Given the description of an element on the screen output the (x, y) to click on. 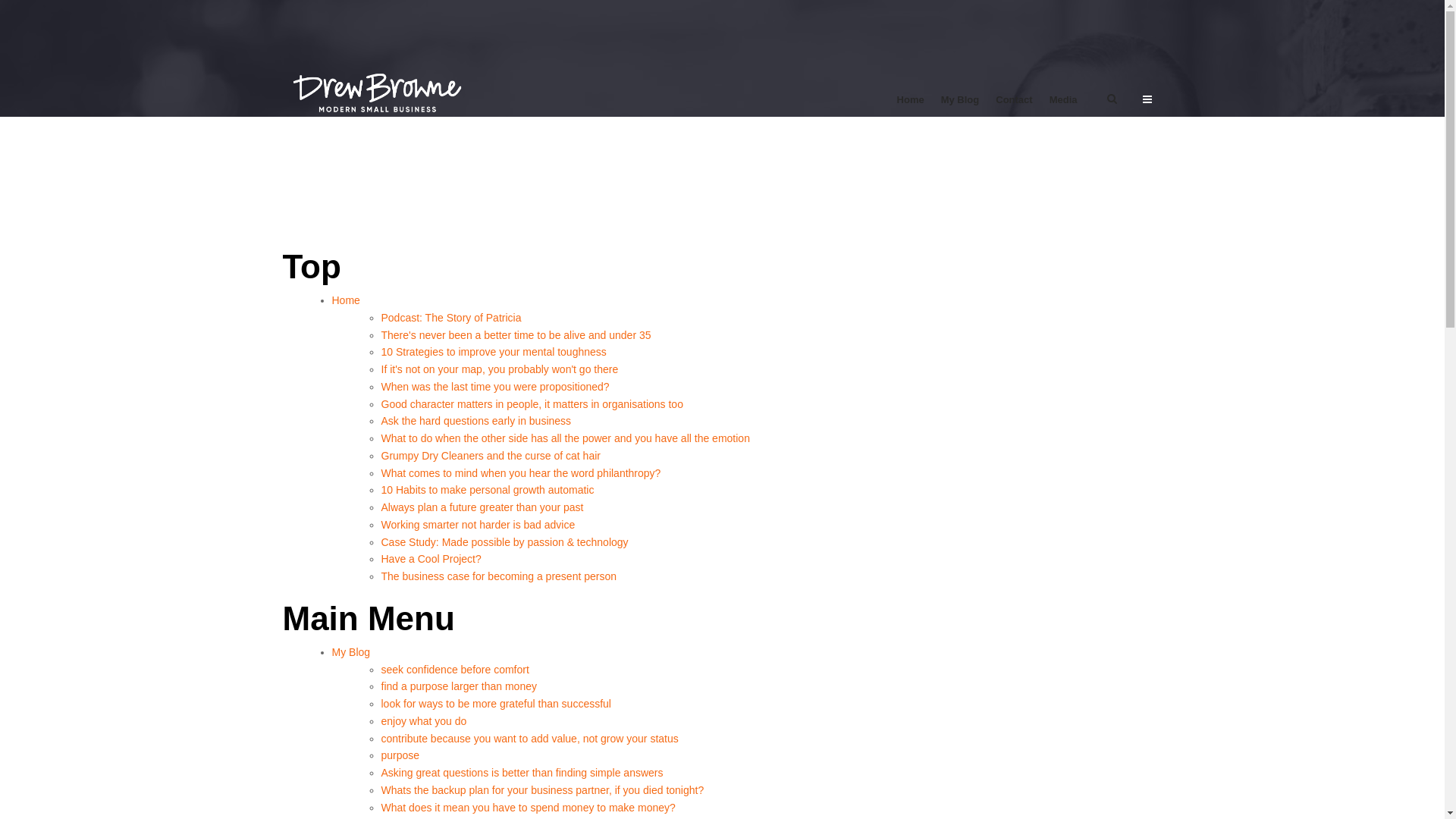
When was the last time you were propositioned? Element type: text (494, 386)
Grumpy Dry Cleaners and the curse of cat hair Element type: text (489, 455)
Contact Element type: text (1013, 99)
Podcast: The Story of Patricia Element type: text (450, 317)
10 Habits to make personal growth automatic Element type: text (486, 489)
10 Strategies to improve your mental toughness Element type: text (492, 351)
seek confidence before comfort Element type: text (454, 668)
Always plan a future greater than your past Element type: text (481, 507)
The business case for becoming a present person Element type: text (498, 576)
look for ways to be more grateful than successful Element type: text (495, 703)
Home Element type: text (910, 99)
Drew Browne Element type: hover (380, 80)
What comes to mind when you hear the word philanthropy? Element type: text (520, 473)
purpose Element type: text (399, 755)
Home Element type: text (346, 300)
What does it mean you have to spend money to make money? Element type: text (527, 806)
Media Element type: text (1063, 99)
Asking great questions is better than finding simple answers Element type: text (521, 772)
My Blog Element type: text (960, 99)
Have a Cool Project? Element type: text (430, 558)
My Blog Element type: text (351, 652)
If it's not on your map, you probably won't go there Element type: text (499, 369)
find a purpose larger than money Element type: text (458, 686)
Case Study: Made possible by passion & technology Element type: text (503, 541)
Ask the hard questions early in business Element type: text (475, 420)
enjoy what you do Element type: text (423, 721)
Working smarter not harder is bad advice Element type: text (477, 524)
There's never been a better time to be alive and under 35 Element type: text (515, 335)
